Given the description of an element on the screen output the (x, y) to click on. 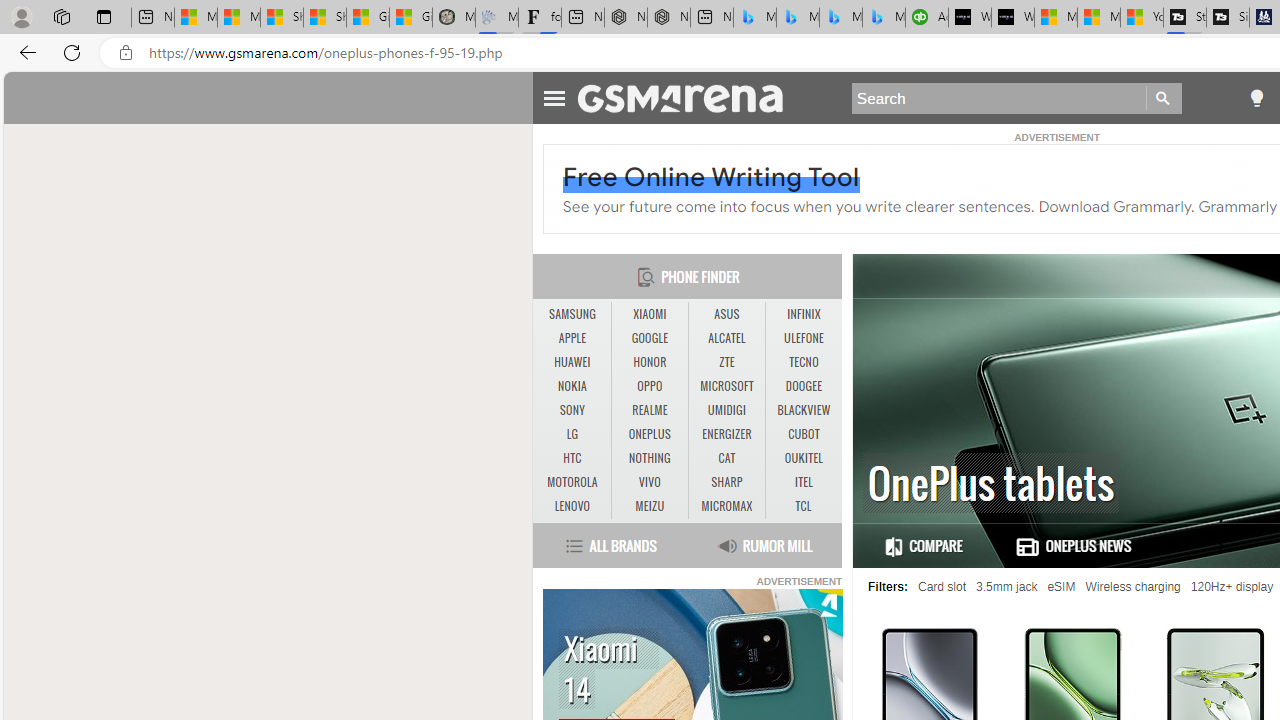
CAT (726, 457)
ONEPLUS (649, 434)
UMIDIGI (726, 410)
HONOR (649, 362)
NOKIA (571, 385)
GOOGLE (649, 338)
CUBOT (803, 434)
HTC (571, 457)
120Hz+ display (1231, 587)
REALME (649, 410)
MEIZU (649, 506)
ZTE (726, 362)
REALME (649, 411)
